Given the description of an element on the screen output the (x, y) to click on. 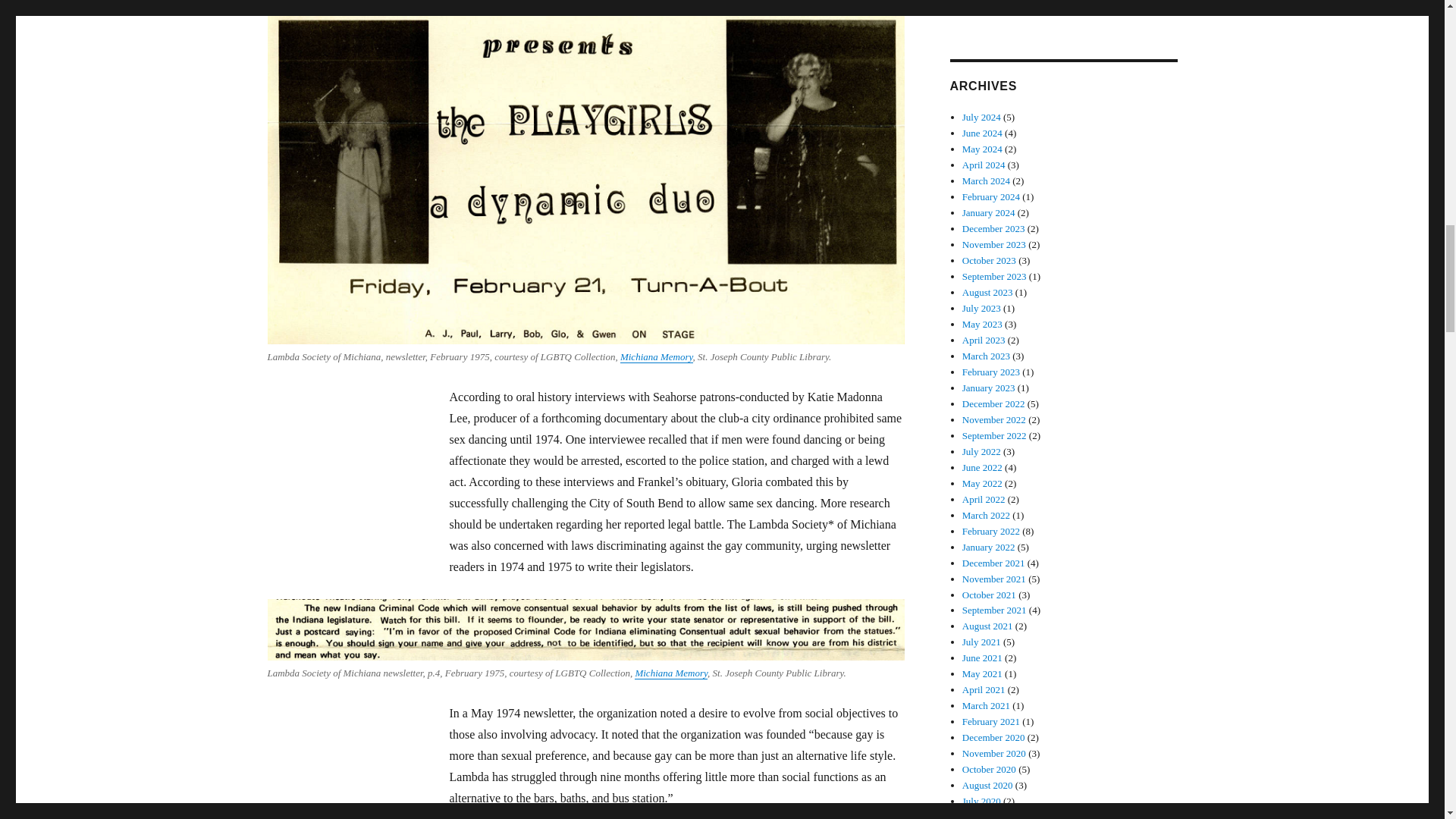
Michiana Memory (656, 356)
Michiana Memory (670, 672)
